Given the description of an element on the screen output the (x, y) to click on. 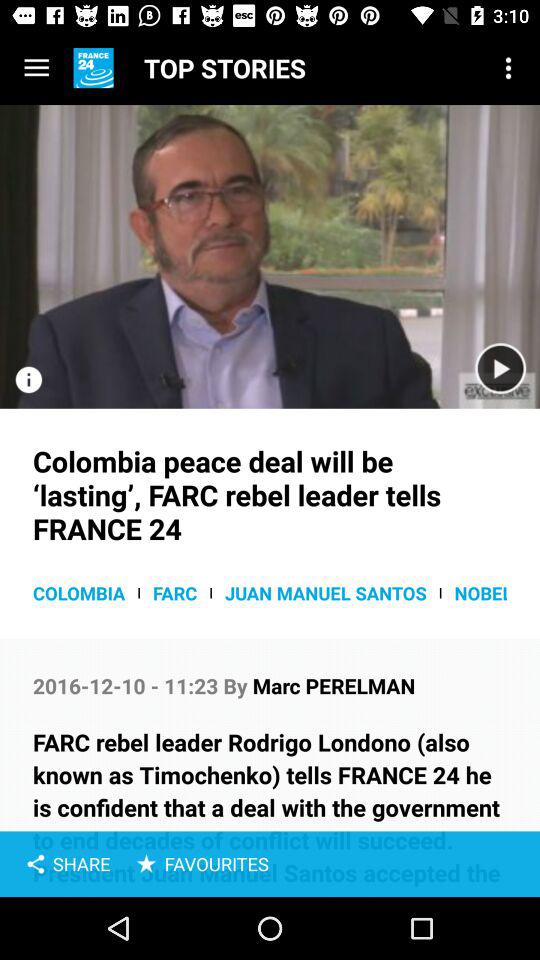
play video (270, 256)
